Given the description of an element on the screen output the (x, y) to click on. 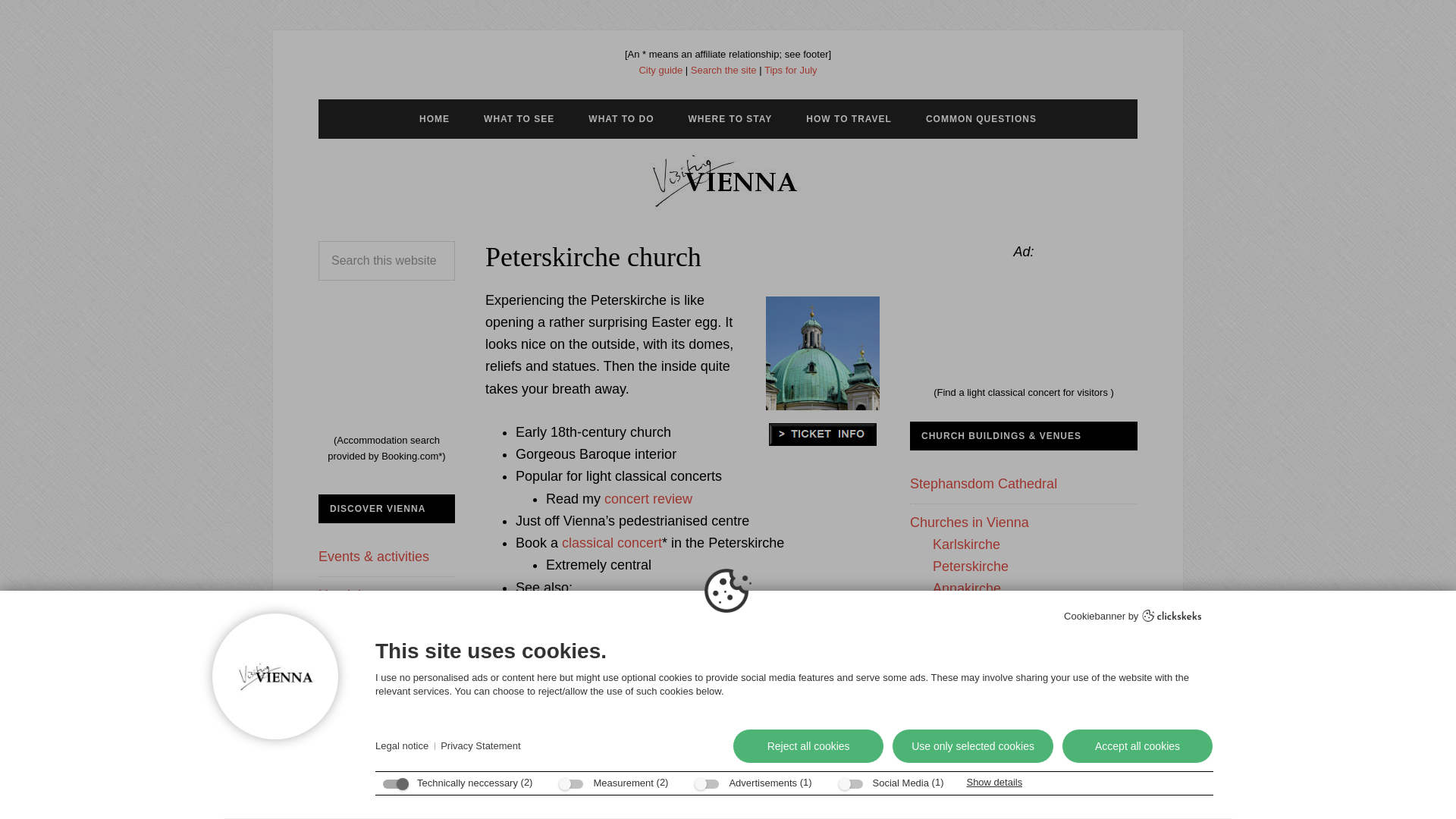
Minoritenkirche (979, 699)
Karlskirche (966, 544)
Classical music venues (616, 609)
Wotrubakirche (976, 765)
Votivkirche (965, 788)
Ruprechtskirche (981, 654)
Annakirche (967, 588)
WHAT TO SEE (518, 118)
VISITING VIENNA (727, 179)
Michaelerkirche (980, 632)
Clickskeks Logo (1171, 615)
City guide (660, 70)
Clickskeks (1171, 617)
WHAT TO DO (620, 118)
